Given the description of an element on the screen output the (x, y) to click on. 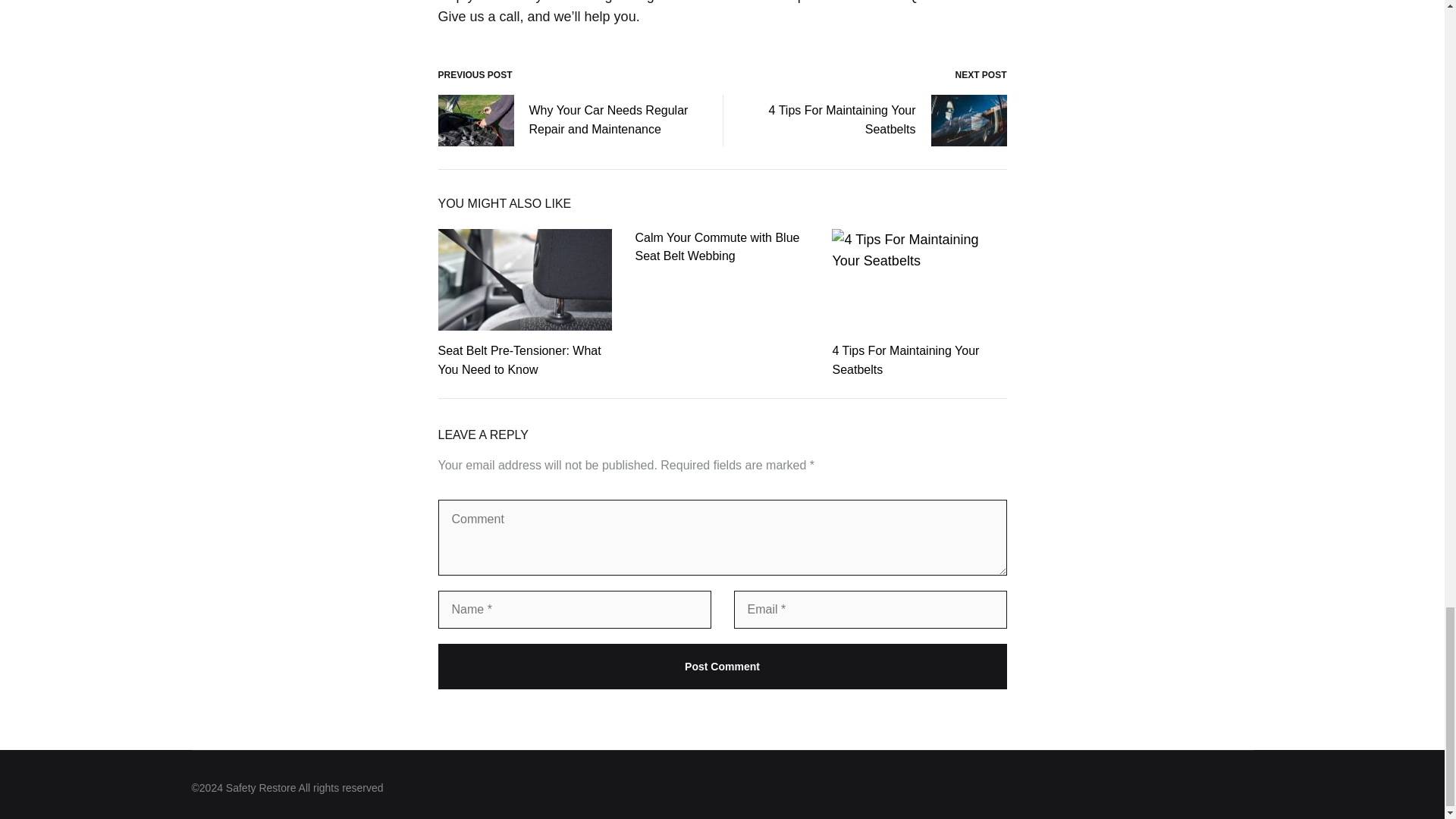
Post Comment (722, 666)
Calm Your Commute with Blue Seat Belt Webbing (716, 246)
Why Your Car Needs Regular Repair and Maintenance (569, 120)
Seat Belt Pre-Tensioner: What You Need to Know (519, 359)
4 Tips For Maintaining Your Seatbelts (876, 120)
Post Comment (722, 666)
4 Tips For Maintaining Your Seatbelts (904, 359)
